Given the description of an element on the screen output the (x, y) to click on. 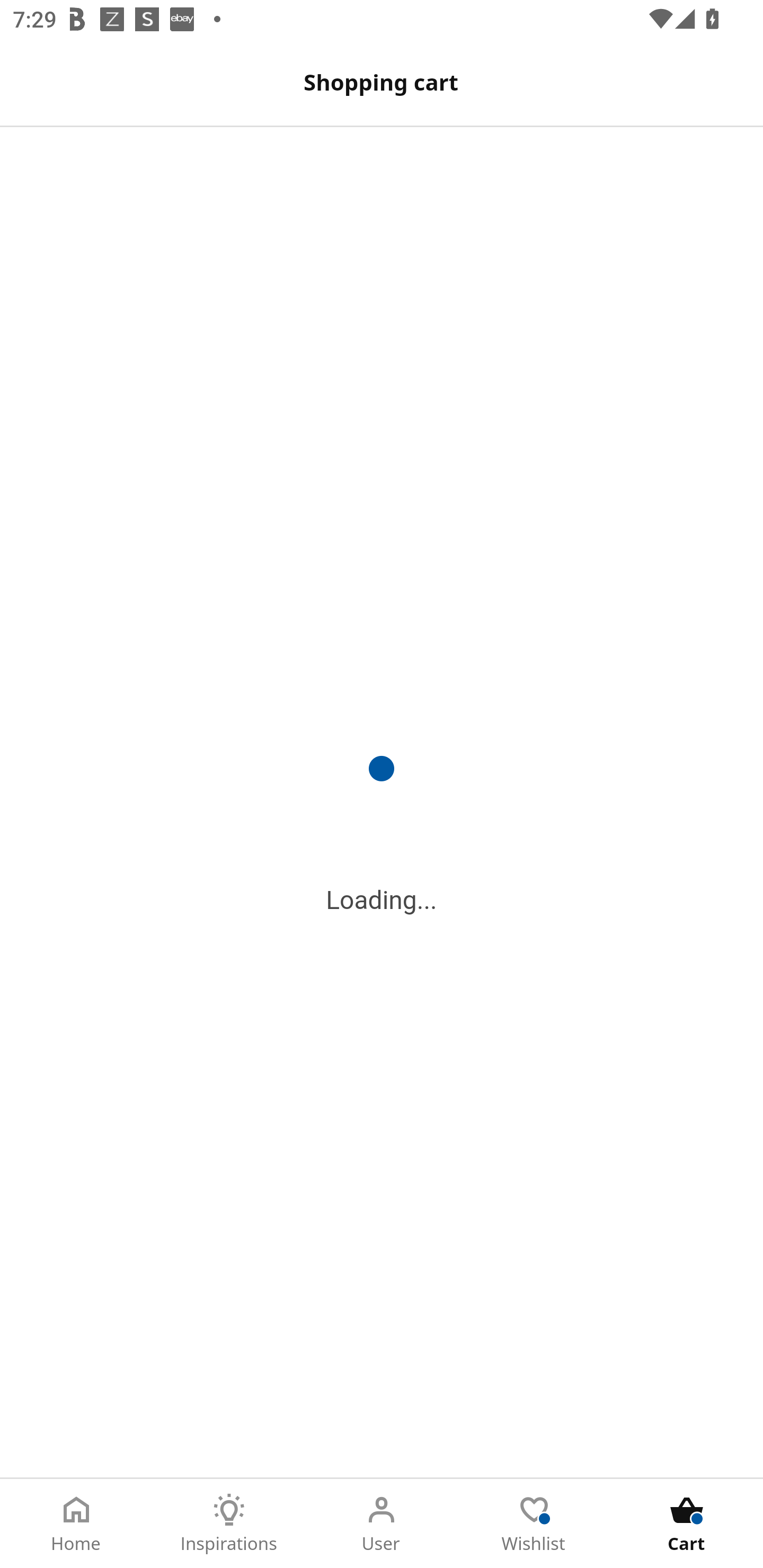
Home
Tab 1 of 5 (76, 1522)
Inspirations
Tab 2 of 5 (228, 1522)
User
Tab 3 of 5 (381, 1522)
Wishlist
Tab 4 of 5 (533, 1522)
Cart
Tab 5 of 5 (686, 1522)
